Given the description of an element on the screen output the (x, y) to click on. 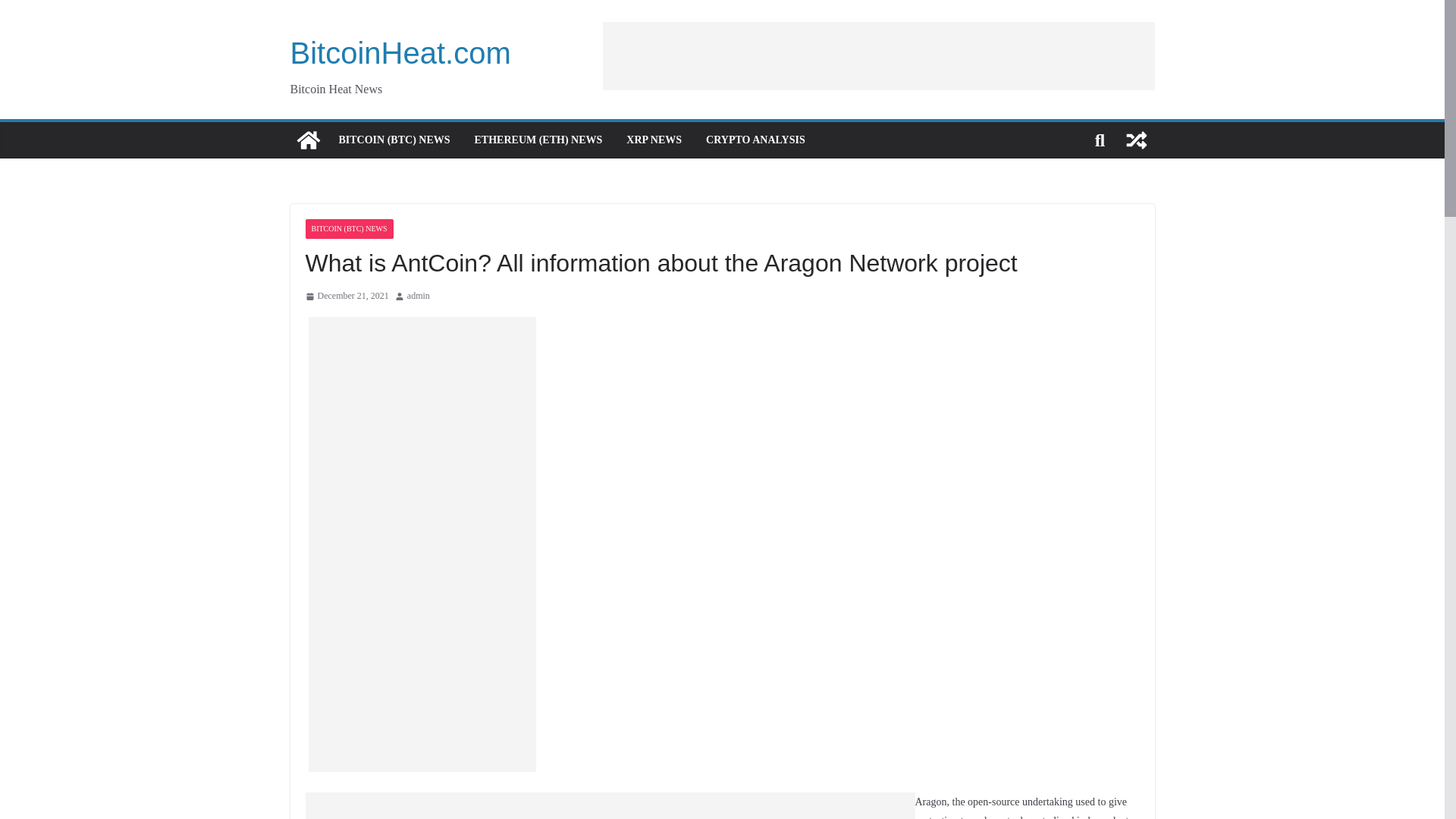
BitcoinHeat.com (400, 52)
admin (418, 296)
BitcoinHeat.com (307, 140)
XRP NEWS (653, 139)
December 21, 2021 (346, 296)
admin (418, 296)
BitcoinHeat.com (400, 52)
View a random post (1136, 140)
8:04 pm (346, 296)
Advertisement (431, 805)
Advertisement (878, 55)
Advertisement (736, 805)
CRYPTO ANALYSIS (755, 139)
